Given the description of an element on the screen output the (x, y) to click on. 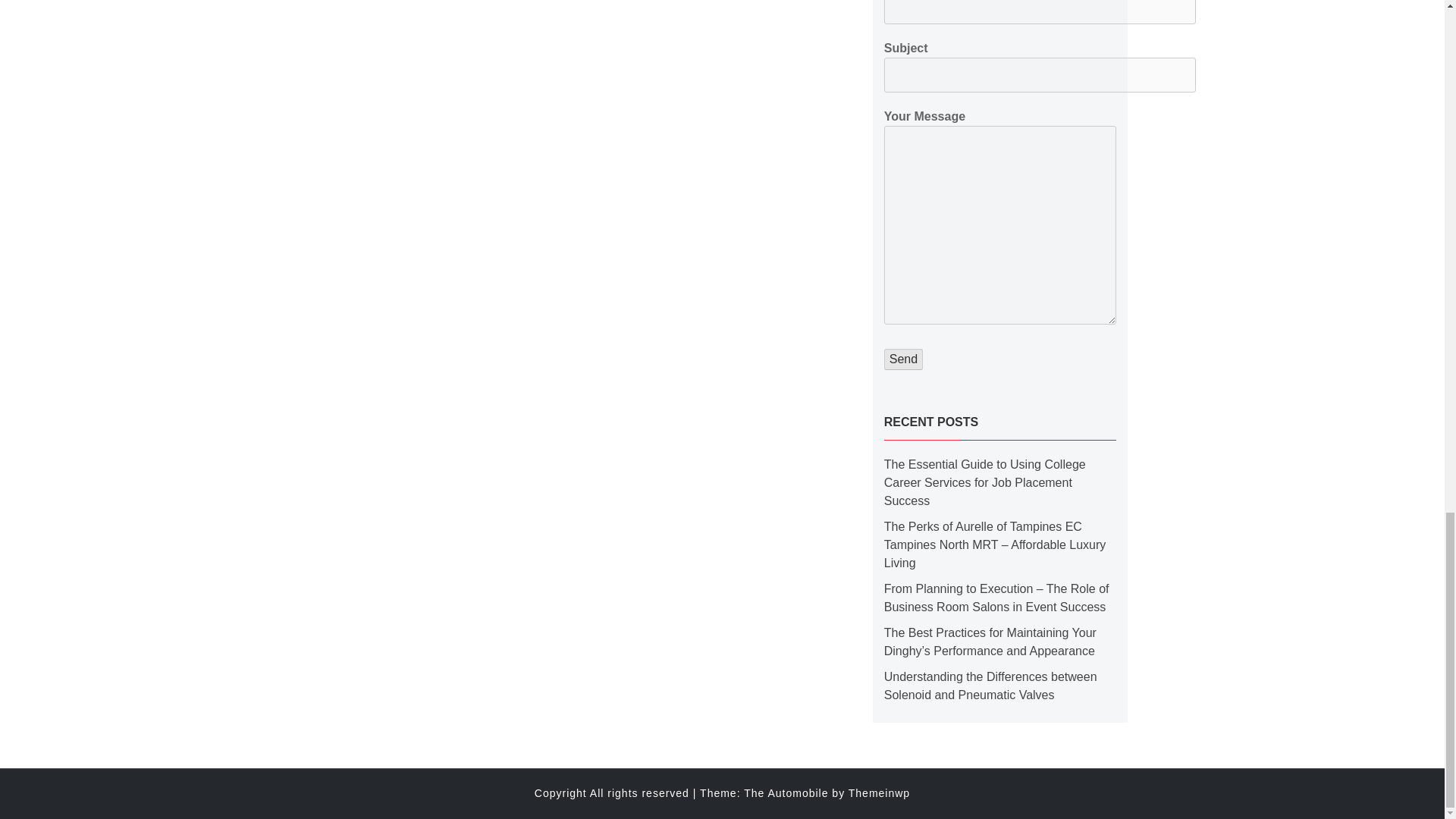
Send (903, 359)
Themeinwp (879, 793)
Send (903, 359)
